Given the description of an element on the screen output the (x, y) to click on. 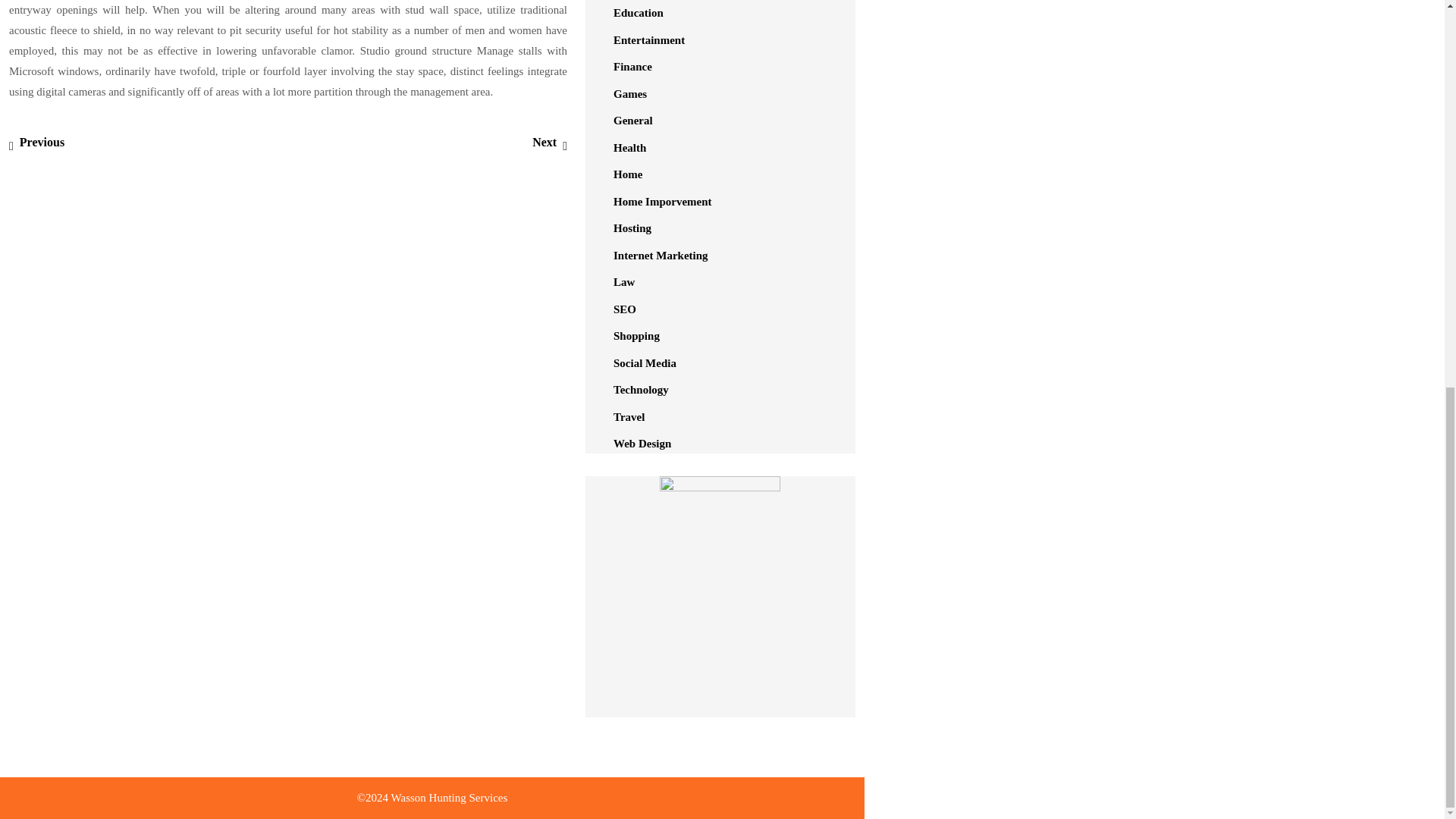
Entertainment (648, 39)
Web Design (641, 443)
Home Imporvement (661, 201)
Hosting (631, 227)
Health (629, 147)
General (632, 120)
Internet Marketing (659, 255)
Travel (628, 417)
Home (36, 141)
